Given the description of an element on the screen output the (x, y) to click on. 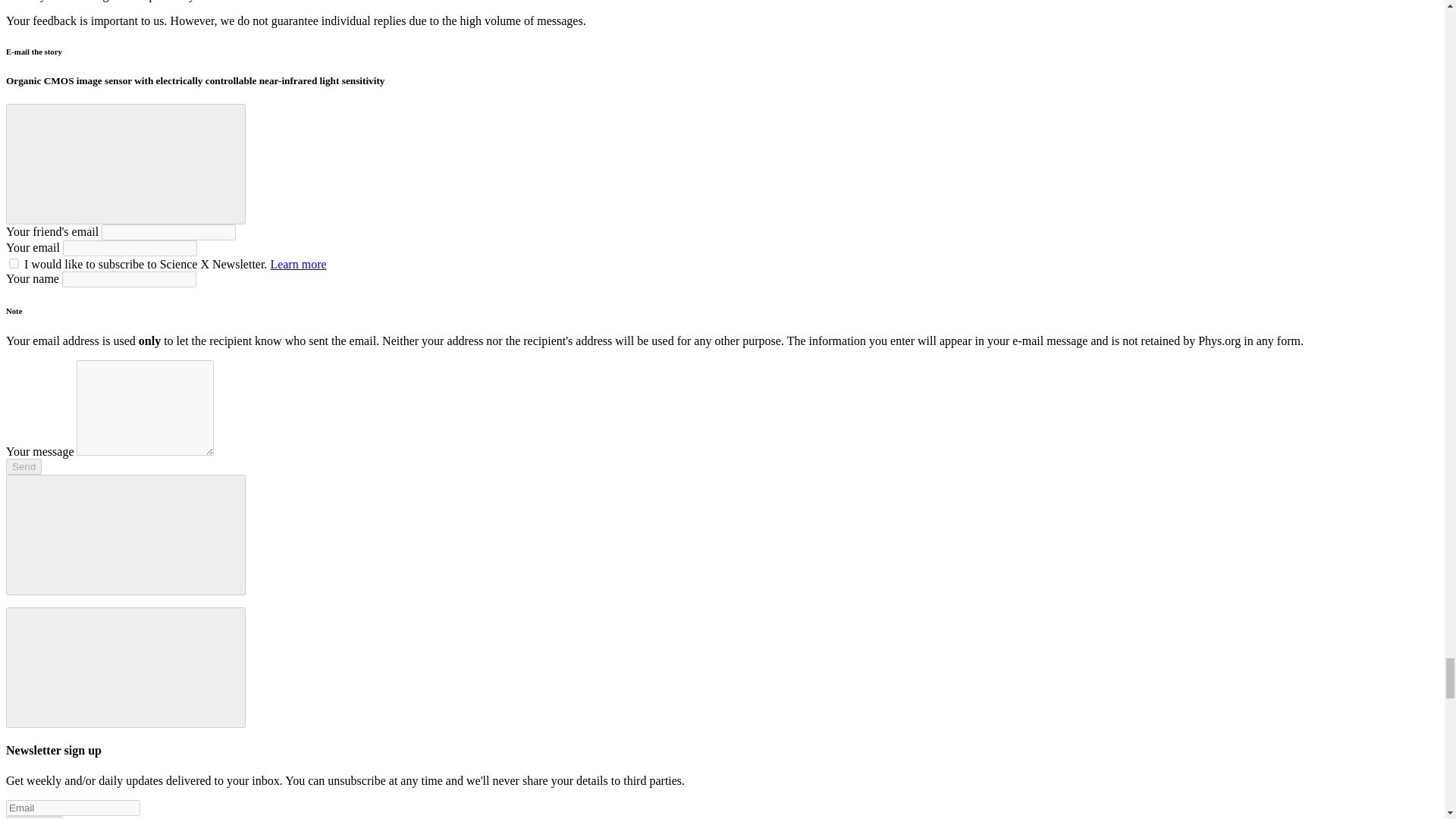
1 (13, 263)
